Given the description of an element on the screen output the (x, y) to click on. 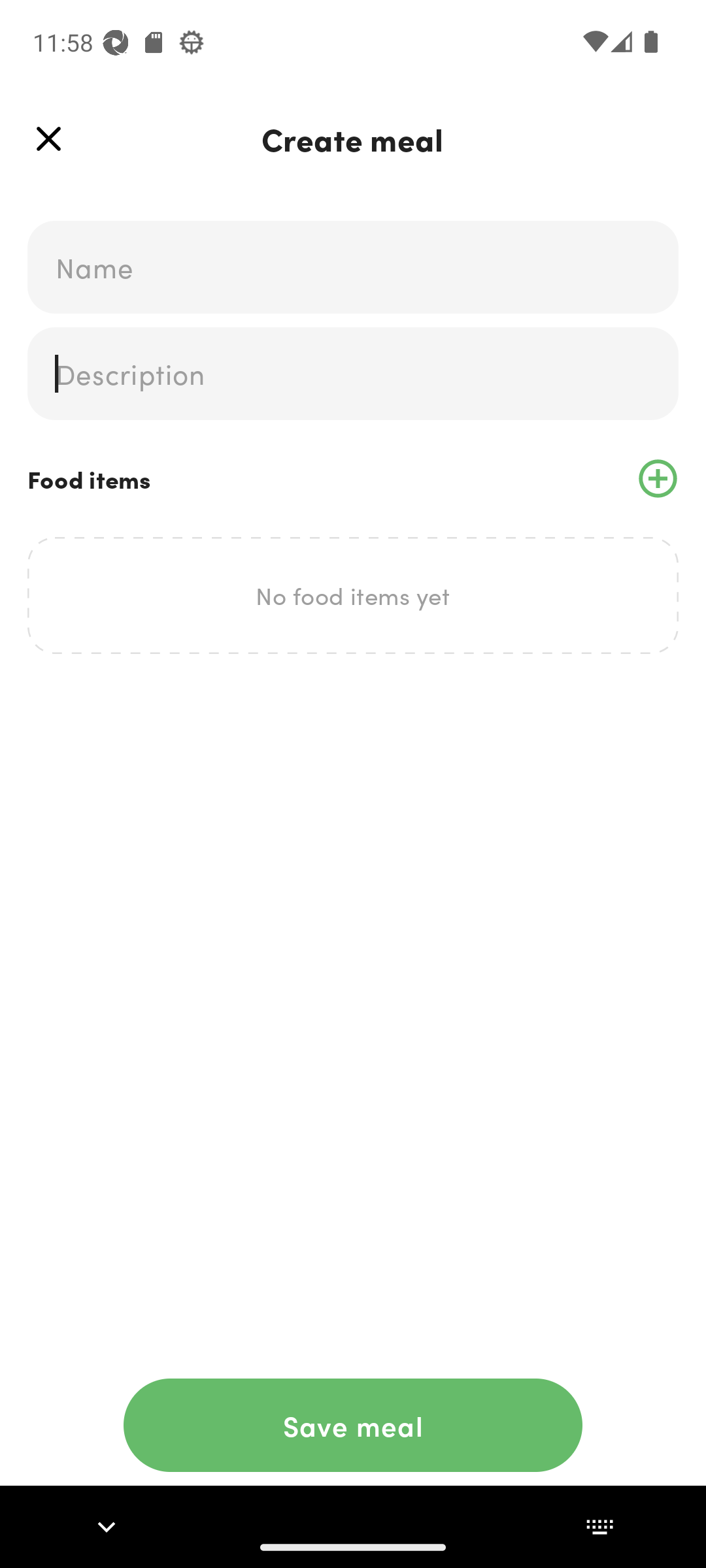
top_left_action (48, 138)
labeled_edit_text Name (352, 267)
labeled_edit_text (352, 373)
No food items yet (352, 594)
action_button Save meal (352, 1425)
